Given the description of an element on the screen output the (x, y) to click on. 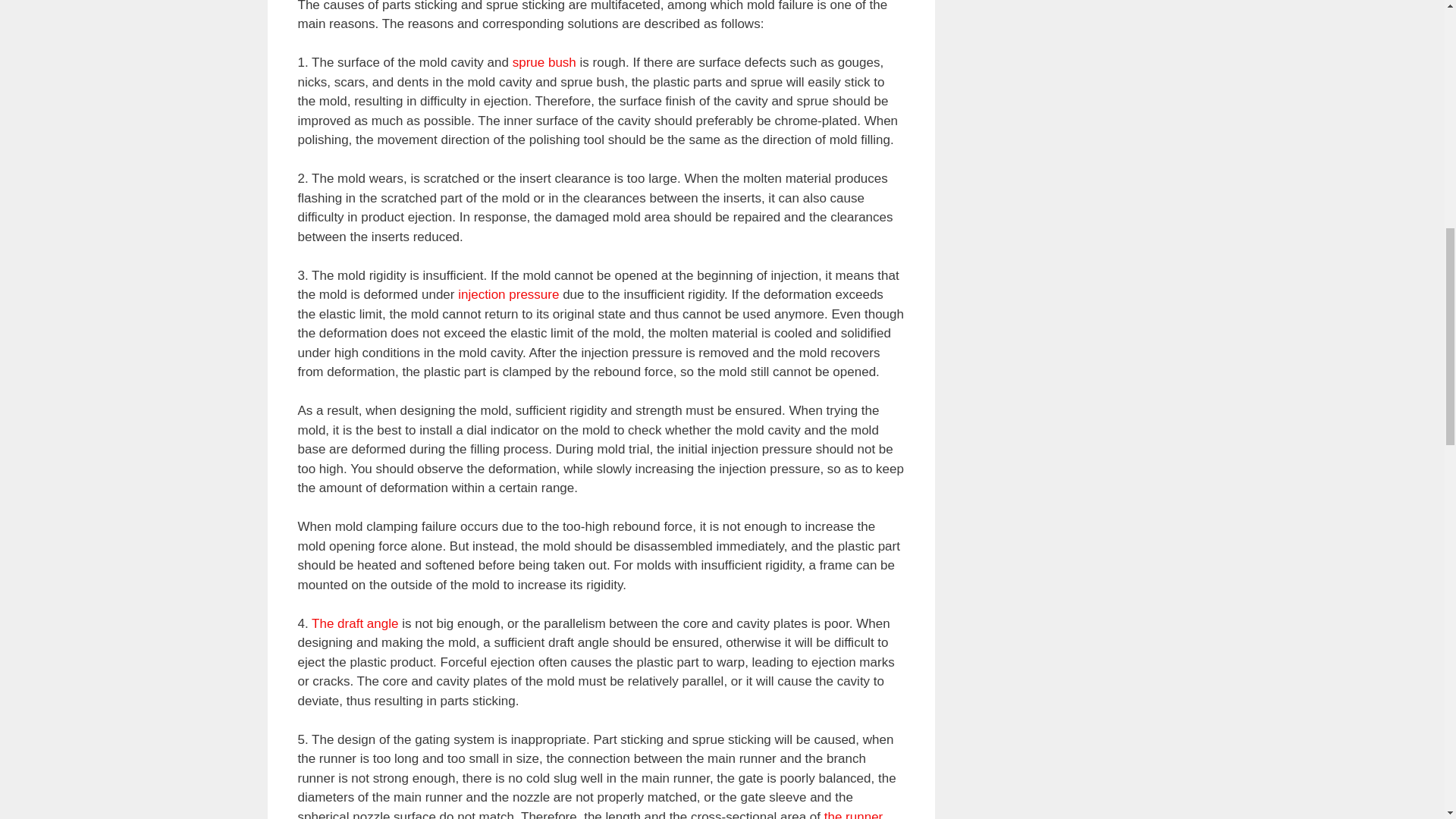
sprue bush (544, 62)
The draft angle (354, 623)
the runner (853, 814)
injection pressure (508, 294)
